Given the description of an element on the screen output the (x, y) to click on. 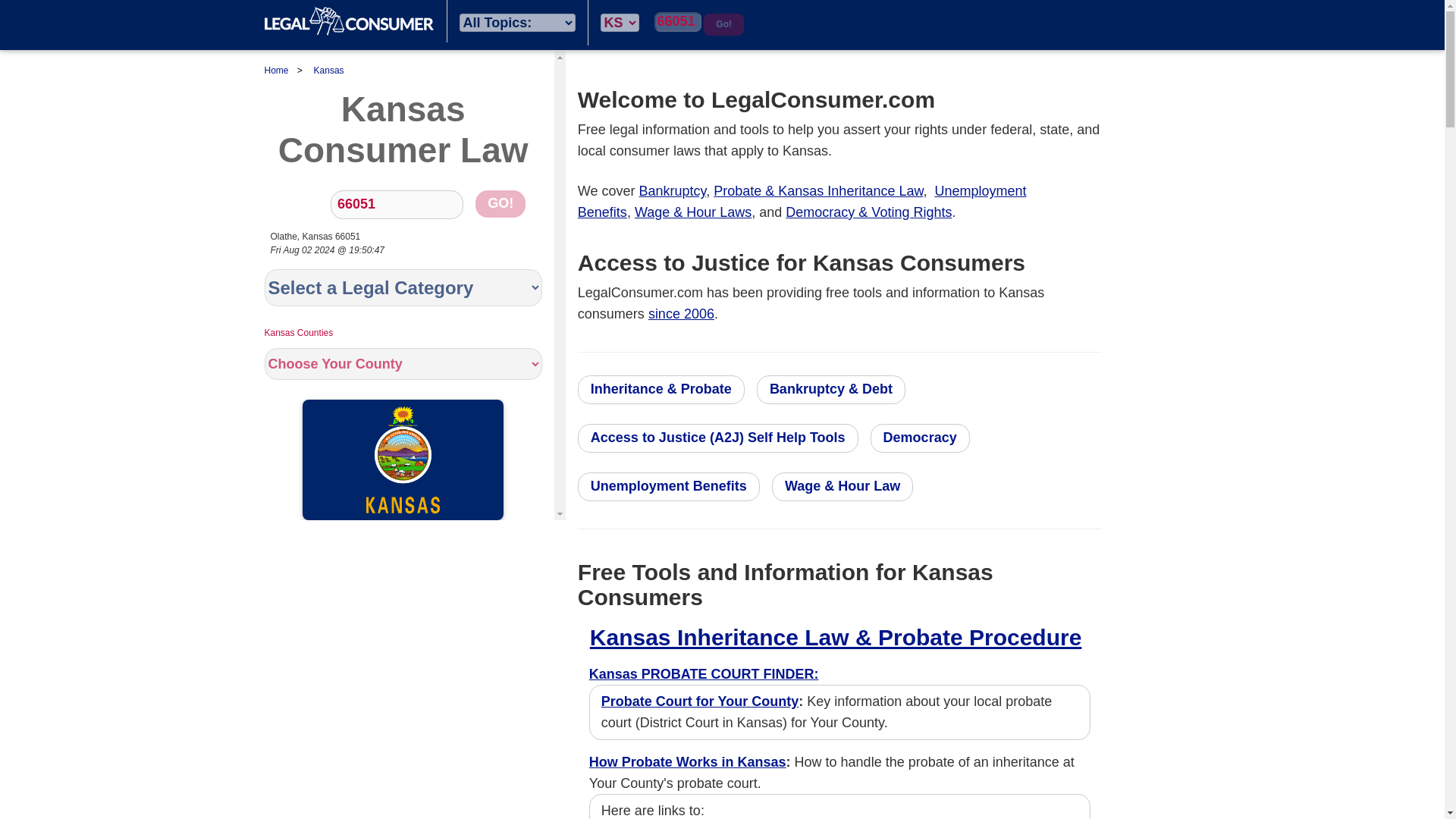
Go! (723, 24)
Kansas PROBATE COURT FINDER: (703, 672)
Home (348, 21)
Unemployment Benefits (802, 201)
How Probate Works in Kansas (687, 761)
Home (276, 70)
Probate Court for Your County (699, 701)
since 2006 (680, 313)
66051 (396, 204)
66051 (677, 21)
